Given the description of an element on the screen output the (x, y) to click on. 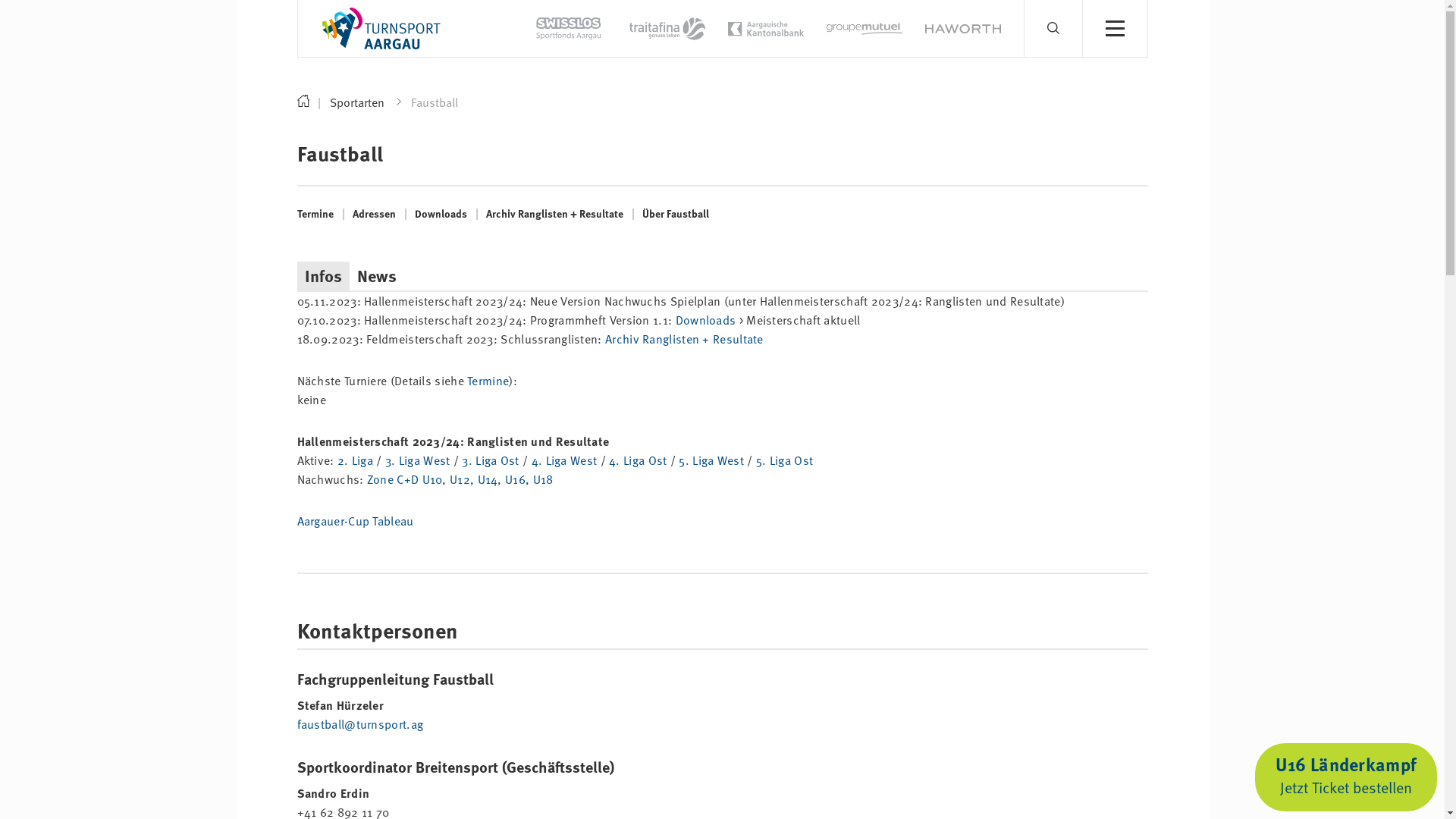
Downloads Element type: text (705, 319)
4. Liga West Element type: text (564, 460)
3. Liga West Element type: text (417, 460)
Archiv Ranglisten + Resultate Element type: text (684, 338)
faustball@turnsport.ag Element type: text (360, 724)
4. Liga Ost Element type: text (637, 460)
Downloads Element type: text (441, 212)
Archiv Ranglisten + Resultate Element type: text (555, 212)
2. Liga Element type: text (355, 460)
Sportarten Element type: text (365, 102)
Aargauer-Cup Tableau Element type: text (355, 520)
Termine Element type: text (316, 212)
Logo Aargauer Turnverband ATV Element type: hover (380, 28)
Suchen Element type: text (1081, 35)
Termine Element type: text (487, 380)
5. Liga West Element type: text (710, 460)
Logo Aargauer Turnverband ATV Element type: hover (380, 26)
3. Liga Ost Element type: text (489, 460)
Zone C+D U10, U12, U14, U16, U18 Element type: text (460, 479)
Faustball Element type: text (434, 102)
Adressen Element type: text (374, 212)
5. Liga Ost Element type: text (784, 460)
